Given the description of an element on the screen output the (x, y) to click on. 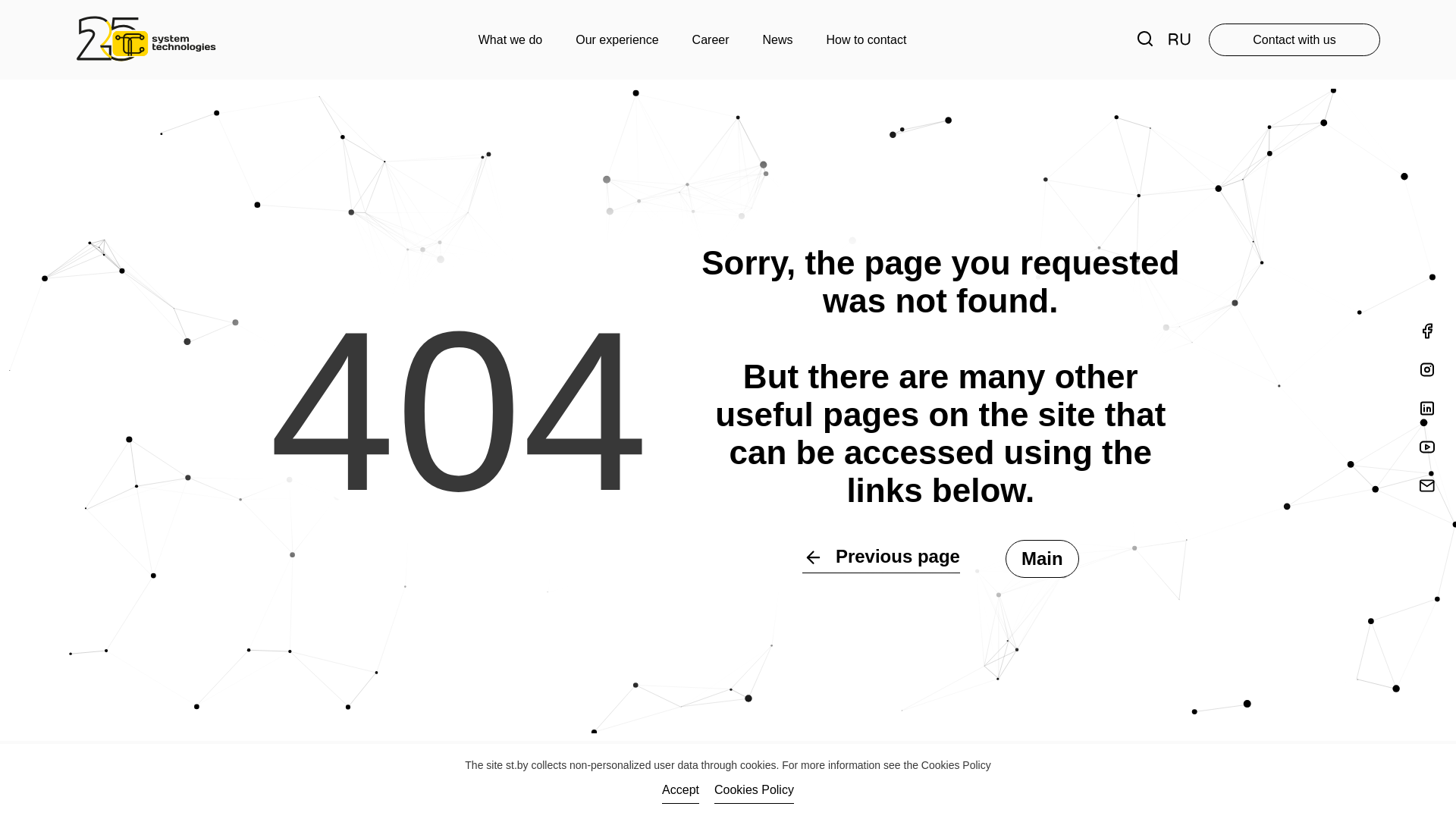
Previous page Element type: text (881, 558)
Our experience Element type: text (616, 39)
Accept Element type: text (680, 790)
Career Element type: text (710, 39)
info@st.by Element type: text (815, 768)
What we do Element type: text (510, 39)
Contact with us Element type: text (1294, 39)
How to contact Element type: text (866, 39)
Cookies Policy Element type: text (956, 765)
st.by Element type: text (516, 765)
Cookies Policy Element type: text (753, 790)
Main Element type: text (1042, 558)
Cookie Element type: text (736, 768)
Privacy Policy Element type: text (649, 768)
News Element type: text (777, 39)
